Given the description of an element on the screen output the (x, y) to click on. 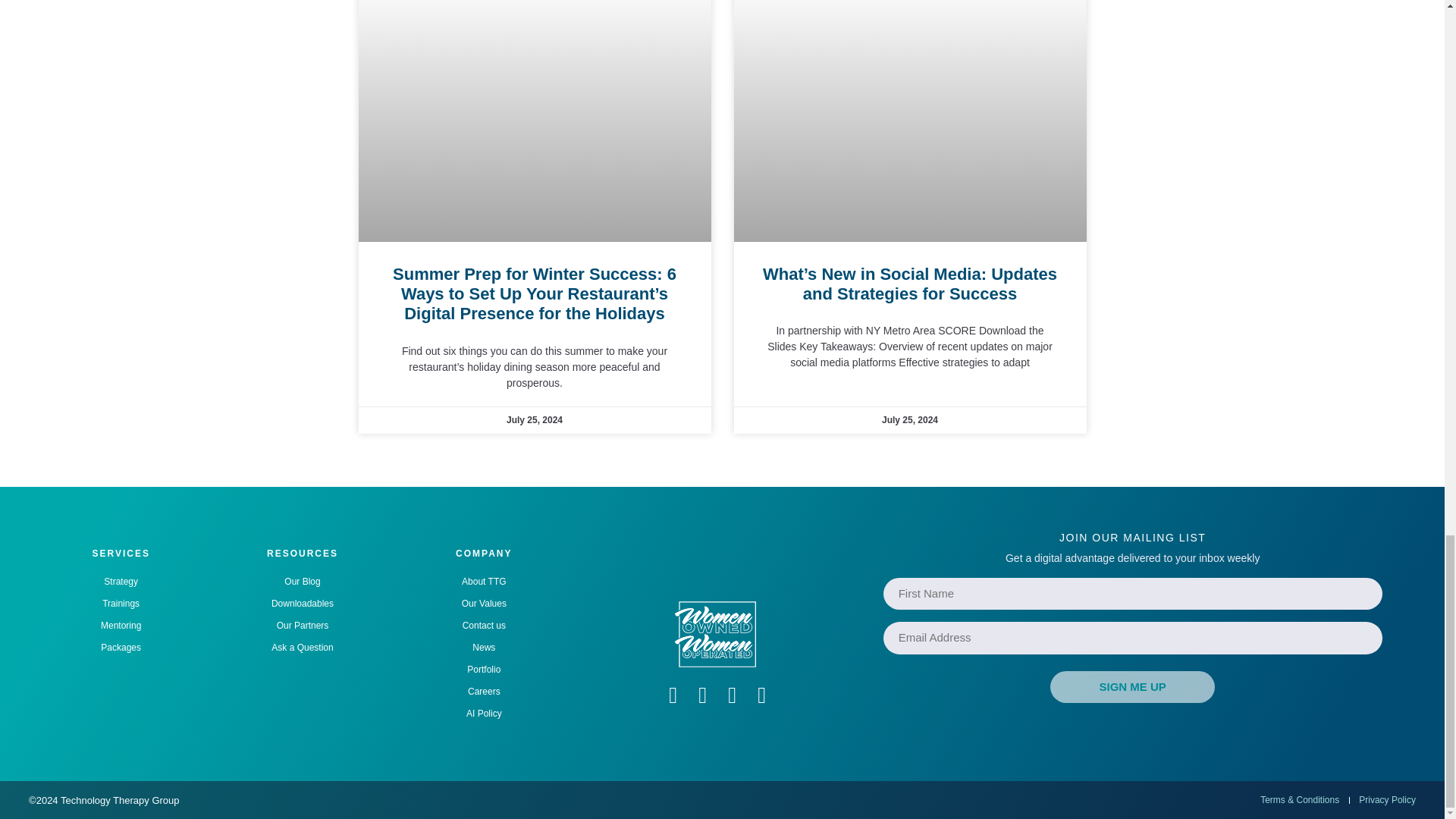
Sign Me Up (1131, 686)
